Given the description of an element on the screen output the (x, y) to click on. 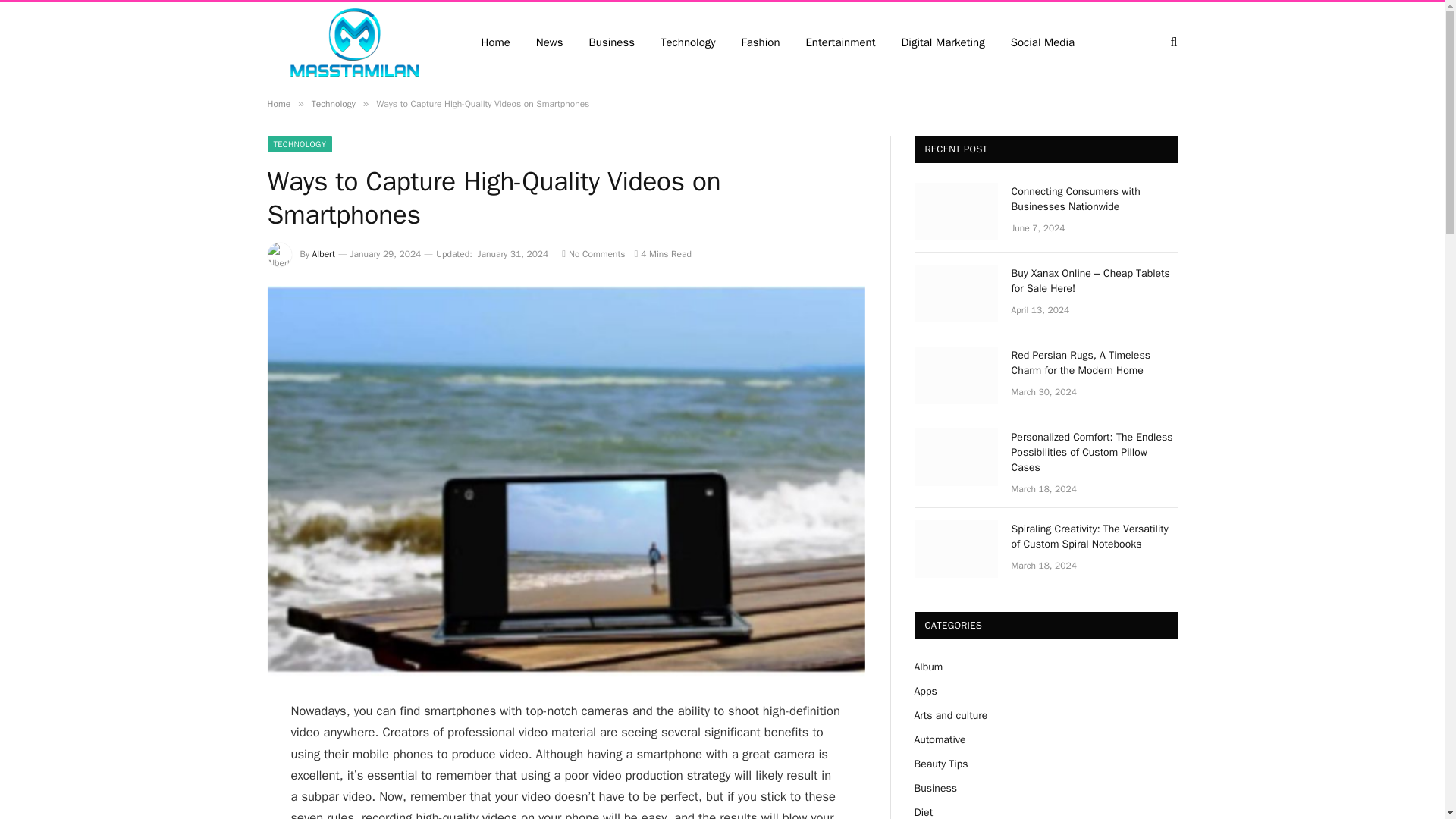
No Comments (593, 254)
Social Media (1042, 42)
Technology (333, 103)
Business (611, 42)
Home (277, 103)
TECHNOLOGY (298, 143)
Albert (323, 254)
Entertainment (840, 42)
Digital Marketing (942, 42)
Masstamilan (353, 42)
